Given the description of an element on the screen output the (x, y) to click on. 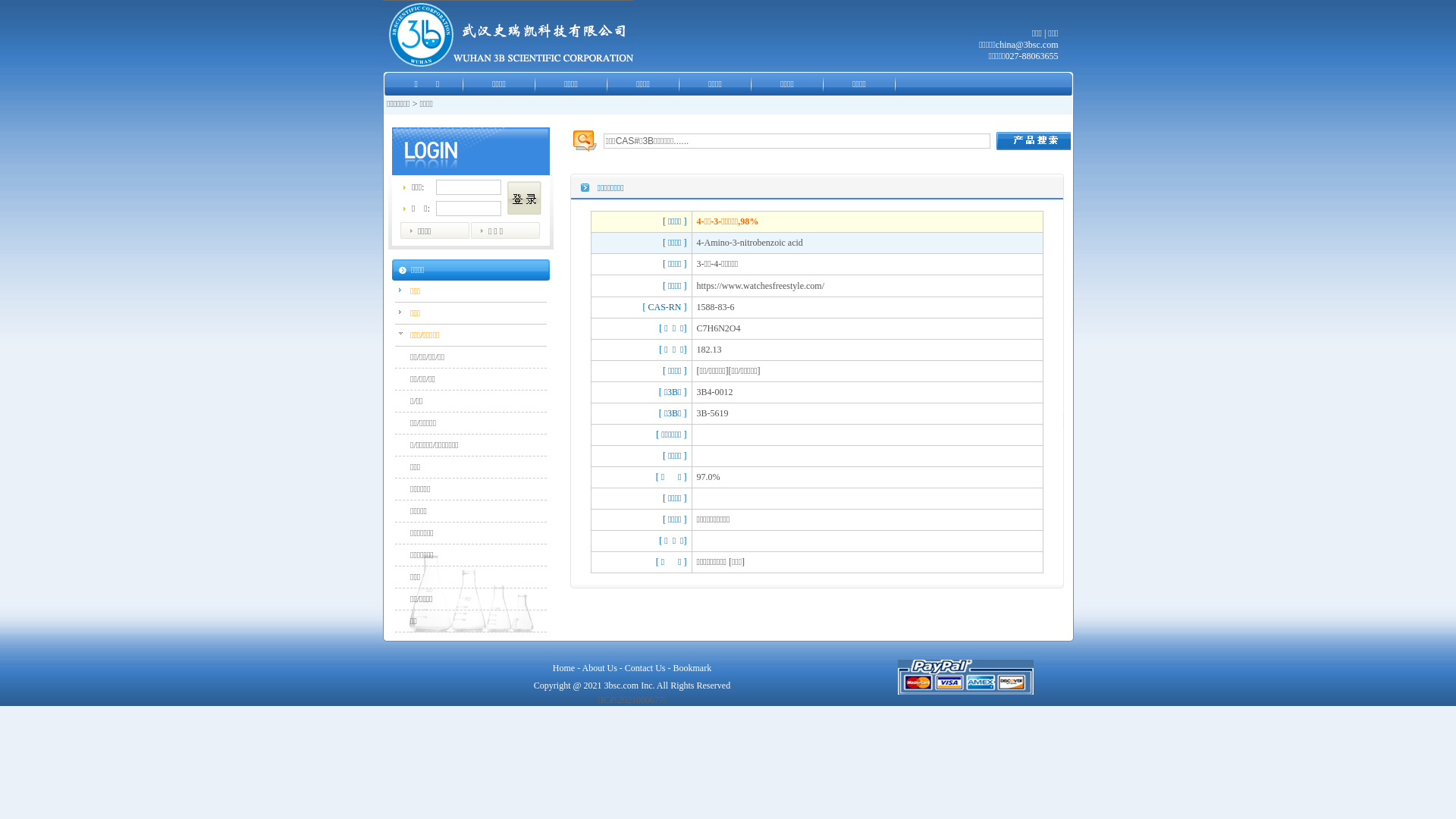
Bookmark Element type: text (692, 667)
About Us Element type: text (598, 667)
Home Element type: text (563, 667)
Contact Us Element type: text (644, 667)
